Given the description of an element on the screen output the (x, y) to click on. 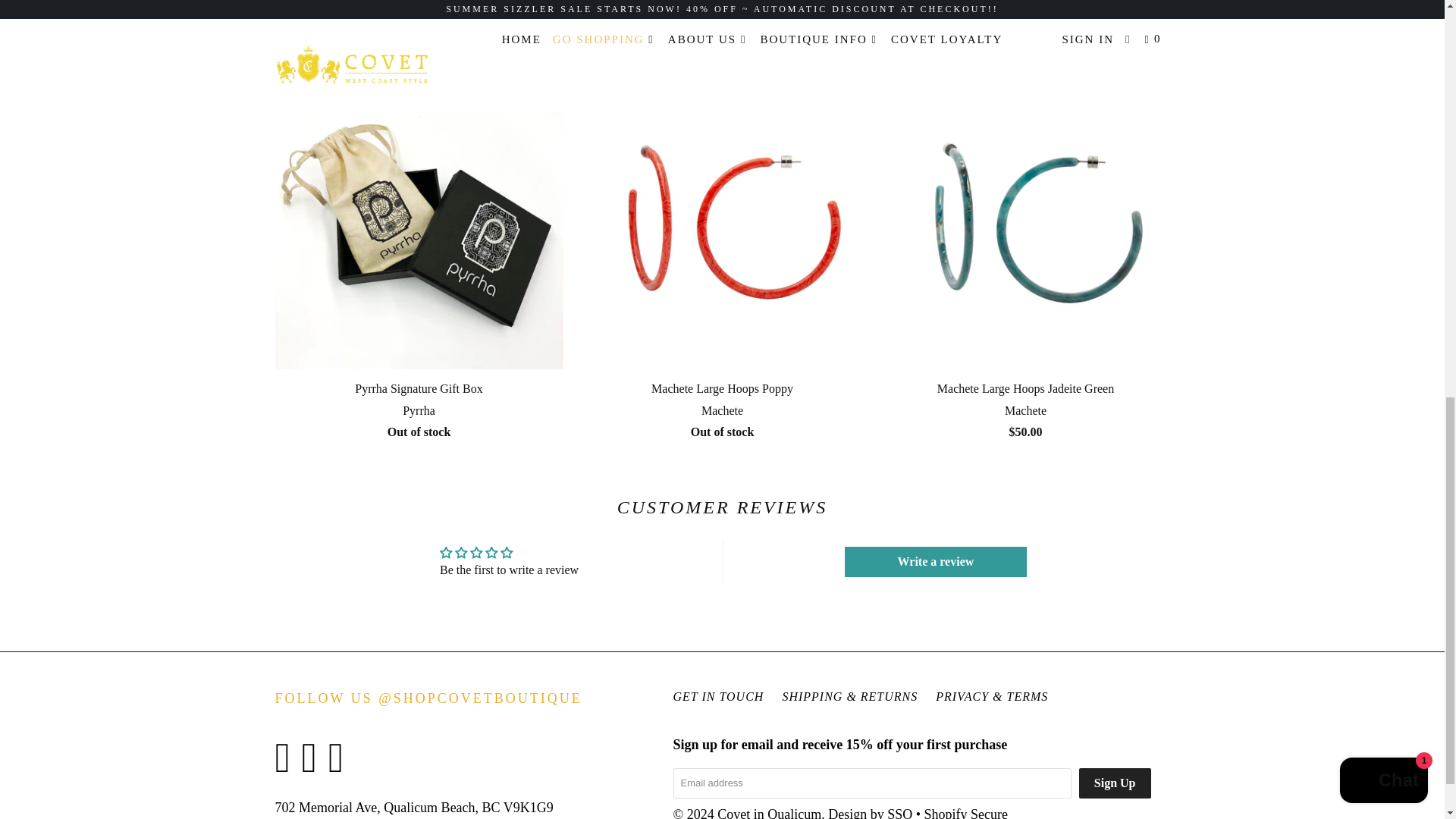
Sign Up (1114, 783)
